Given the description of an element on the screen output the (x, y) to click on. 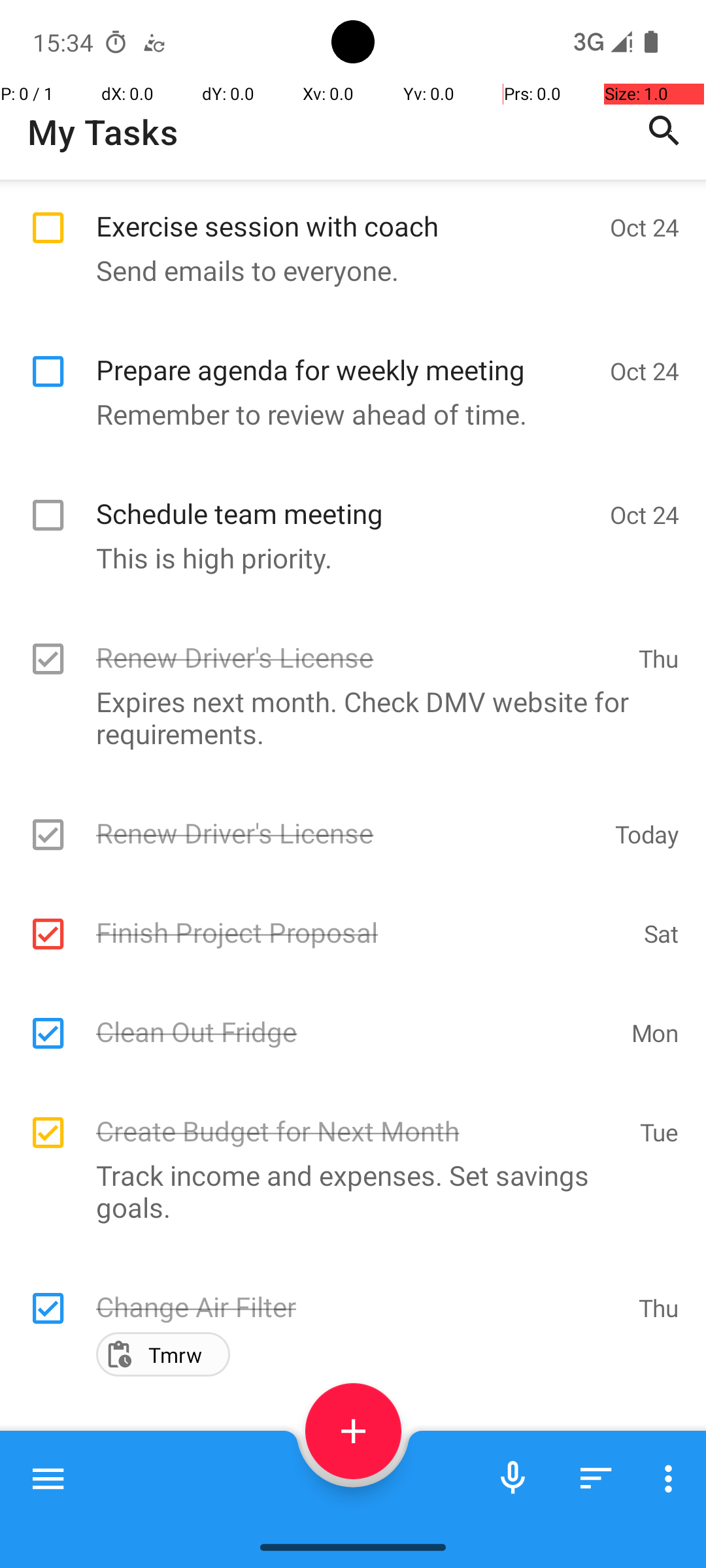
Exercise session with coach Element type: android.widget.TextView (346, 211)
Send emails to everyone. Element type: android.widget.TextView (346, 269)
Oct 24 Element type: android.widget.TextView (644, 226)
Prepare agenda for weekly meeting Element type: android.widget.TextView (346, 355)
Remember to review ahead of time. Element type: android.widget.TextView (346, 413)
Schedule team meeting Element type: android.widget.TextView (346, 499)
This is high priority. Element type: android.widget.TextView (346, 557)
